Given the description of an element on the screen output the (x, y) to click on. 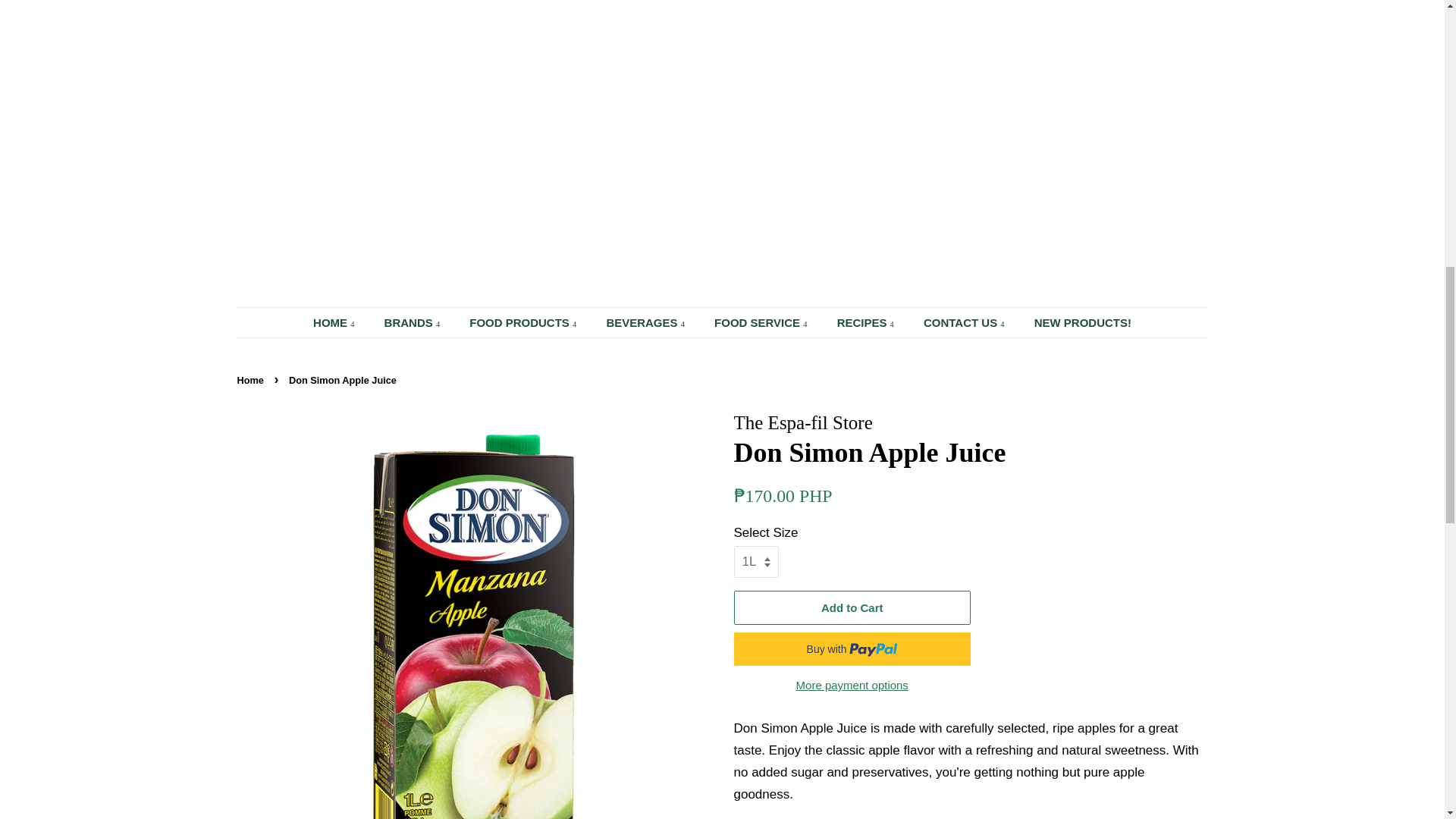
Back to the frontpage (250, 379)
